Given the description of an element on the screen output the (x, y) to click on. 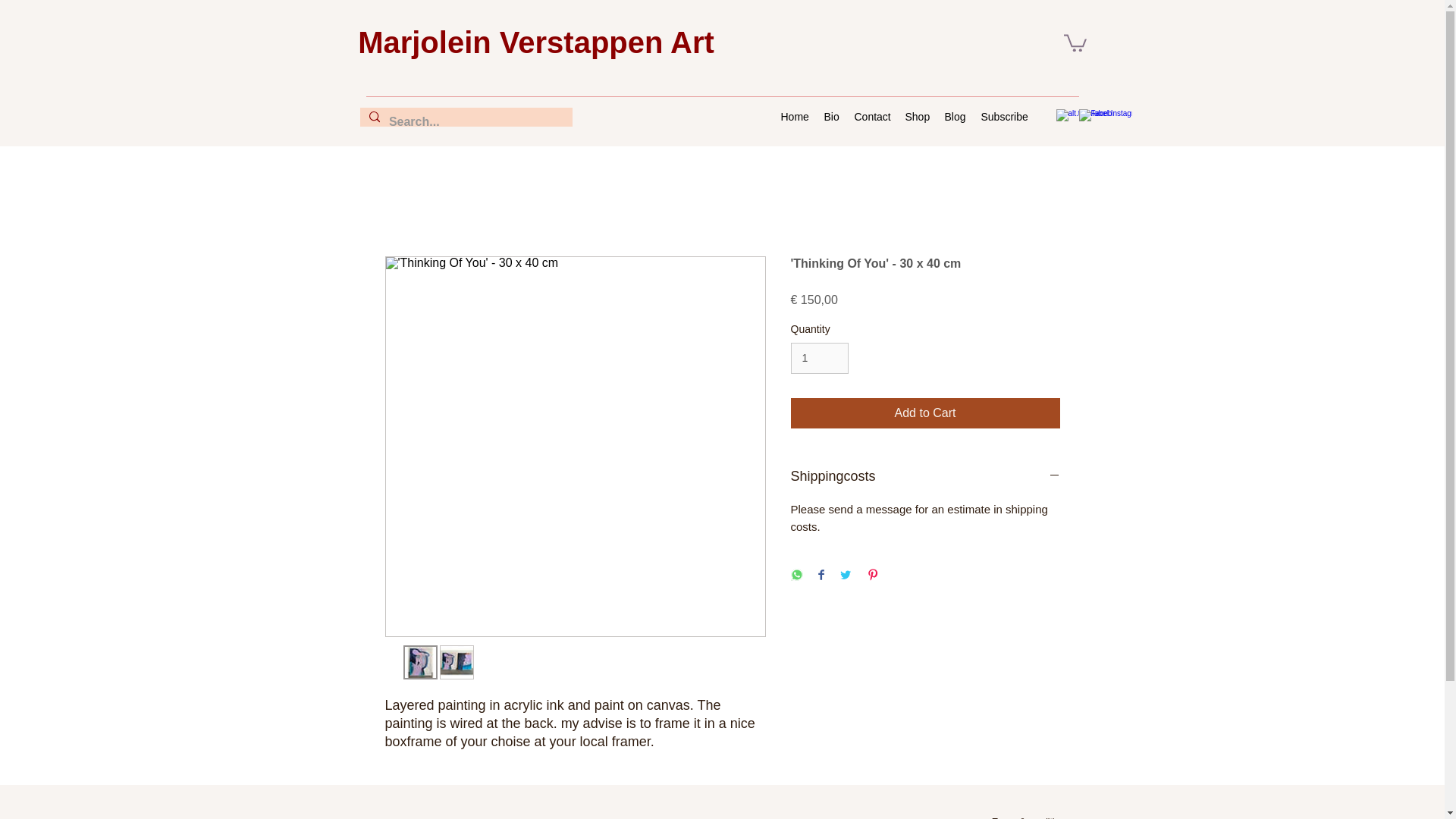
Bio (830, 116)
Contact (870, 116)
1 (818, 358)
Add to Cart (924, 413)
Shippingcosts (924, 476)
Blog (955, 116)
Subscribe (1004, 116)
Home (794, 116)
Shop (917, 116)
